Given the description of an element on the screen output the (x, y) to click on. 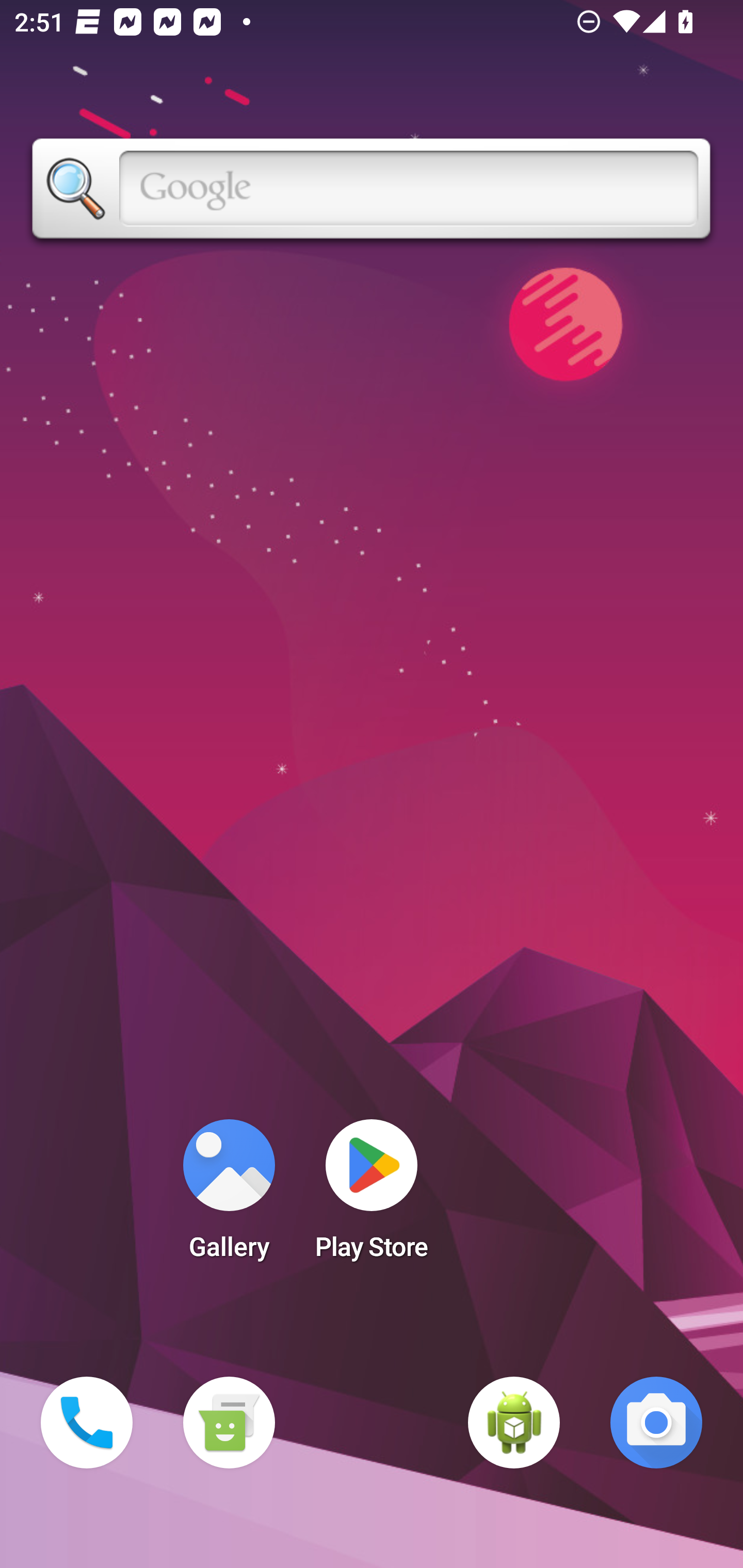
Gallery (228, 1195)
Play Store (371, 1195)
Phone (86, 1422)
Messaging (228, 1422)
WebView Browser Tester (513, 1422)
Camera (656, 1422)
